Given the description of an element on the screen output the (x, y) to click on. 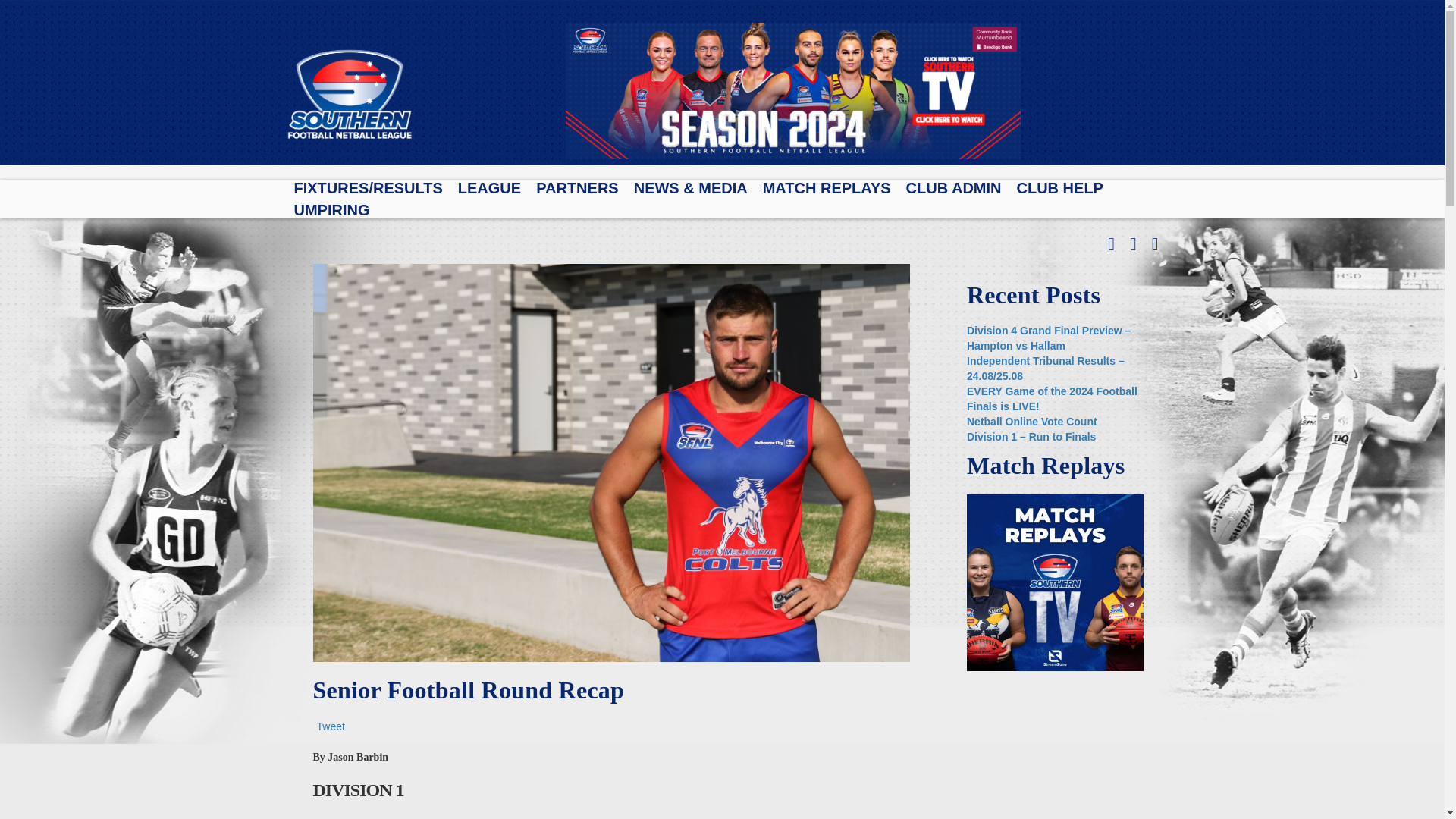
Match Replays (1054, 581)
MATCH REPLAYS (826, 187)
LEAGUE (489, 187)
PARTNERS (576, 187)
